Given the description of an element on the screen output the (x, y) to click on. 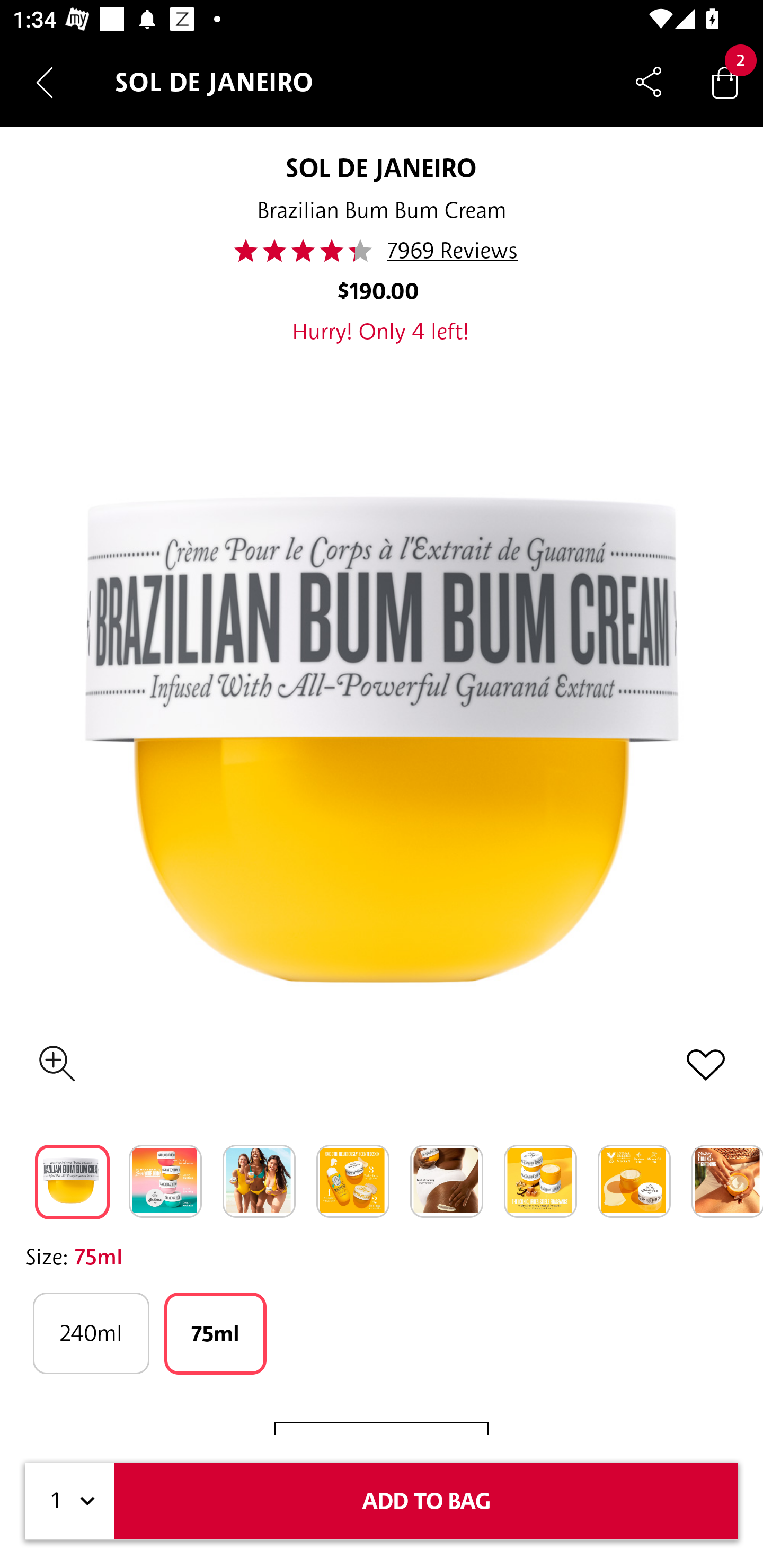
Navigate up (44, 82)
Share (648, 81)
Bag (724, 81)
SOL DE JANEIRO (380, 167)
43.0 7969 Reviews (381, 250)
240ml (90, 1332)
75ml (215, 1333)
1 (69, 1500)
ADD TO BAG (425, 1500)
